Given the description of an element on the screen output the (x, y) to click on. 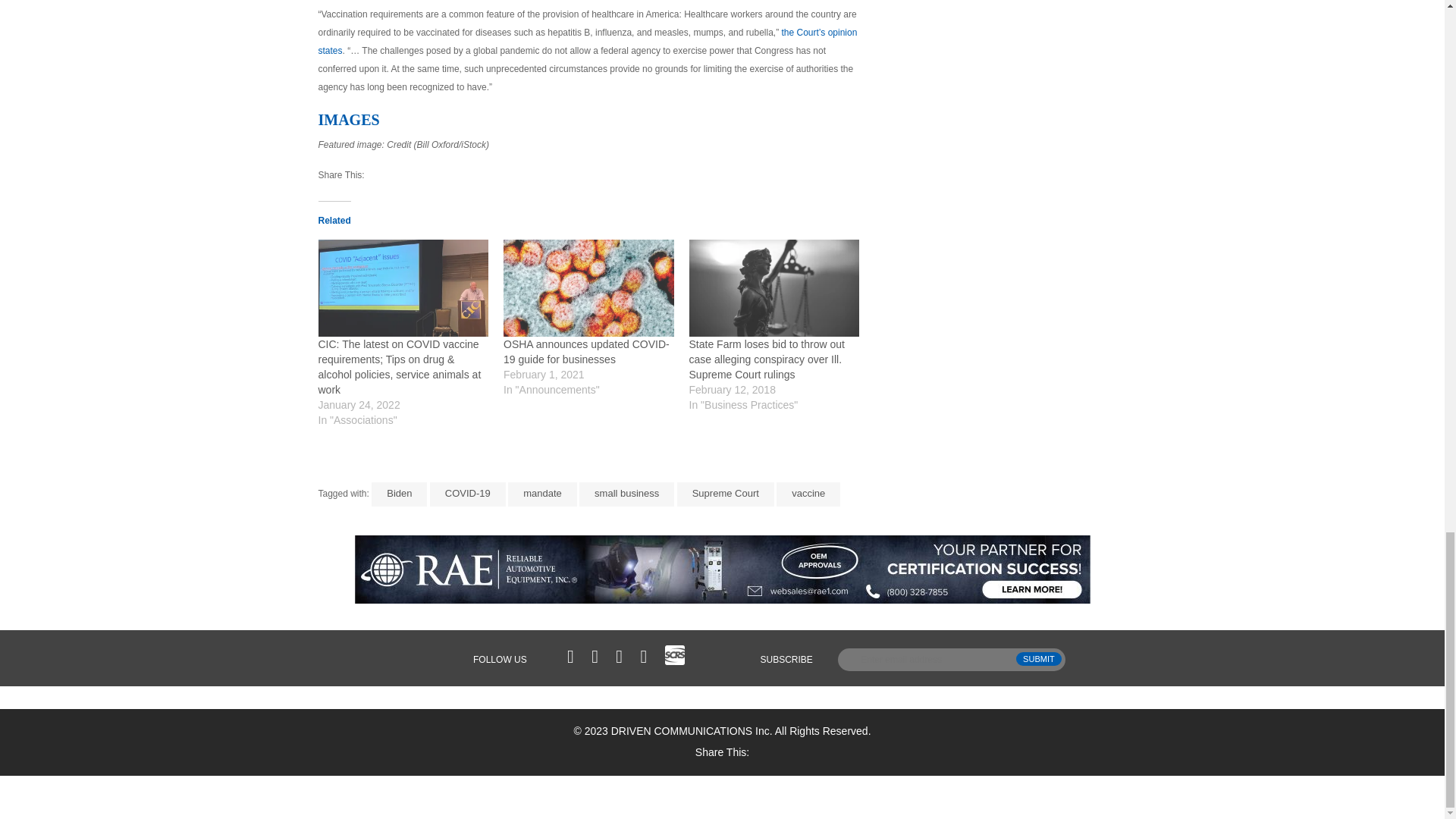
OSHA announces updated COVID-19 guide for businesses (586, 351)
OSHA announces updated COVID-19 guide for businesses (588, 287)
Submit (1038, 658)
